Given the description of an element on the screen output the (x, y) to click on. 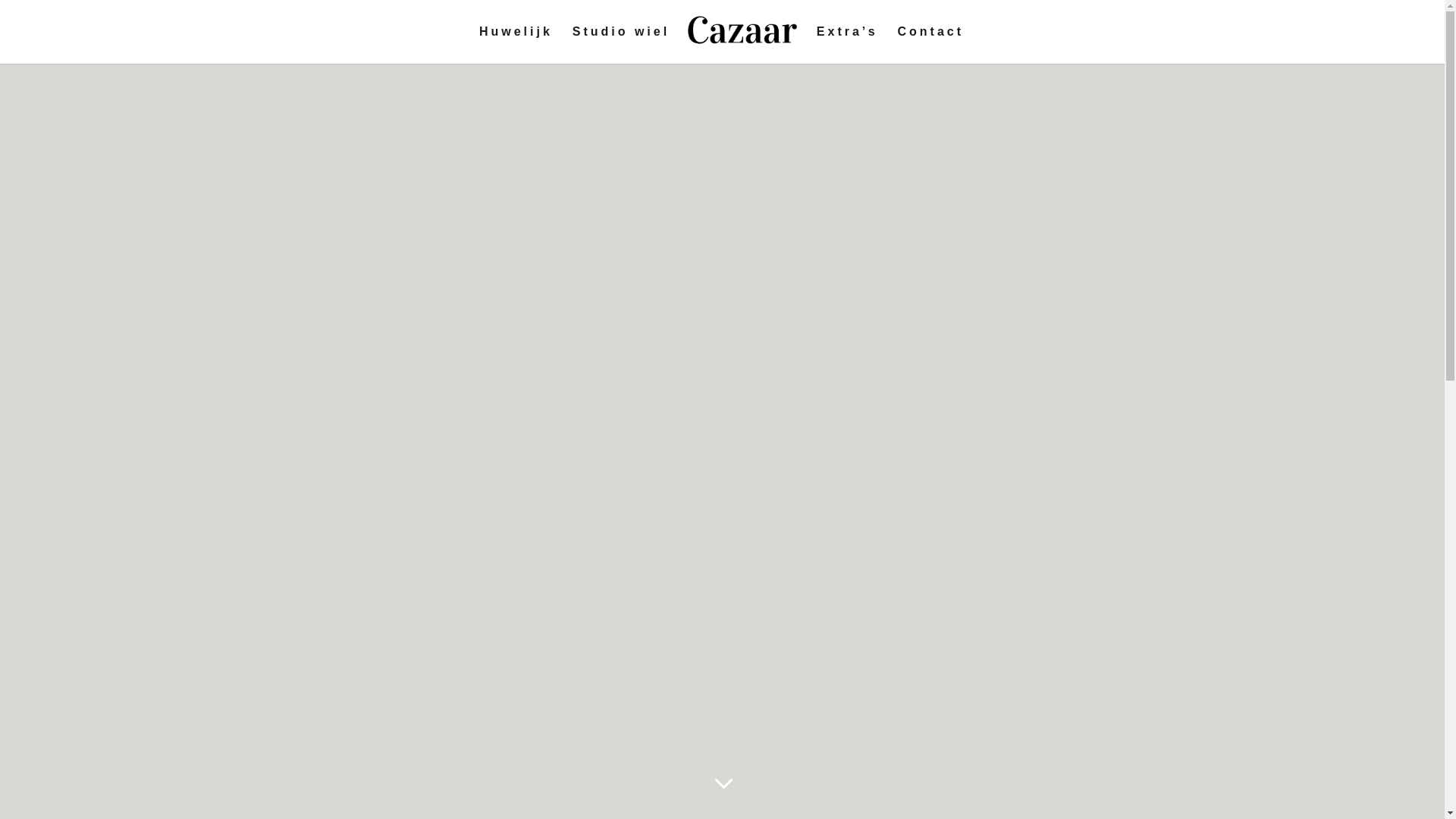
Huwelijk Element type: text (515, 44)
Contact Element type: text (930, 44)
Studio wiel Element type: text (620, 44)
3 Element type: text (721, 782)
